Given the description of an element on the screen output the (x, y) to click on. 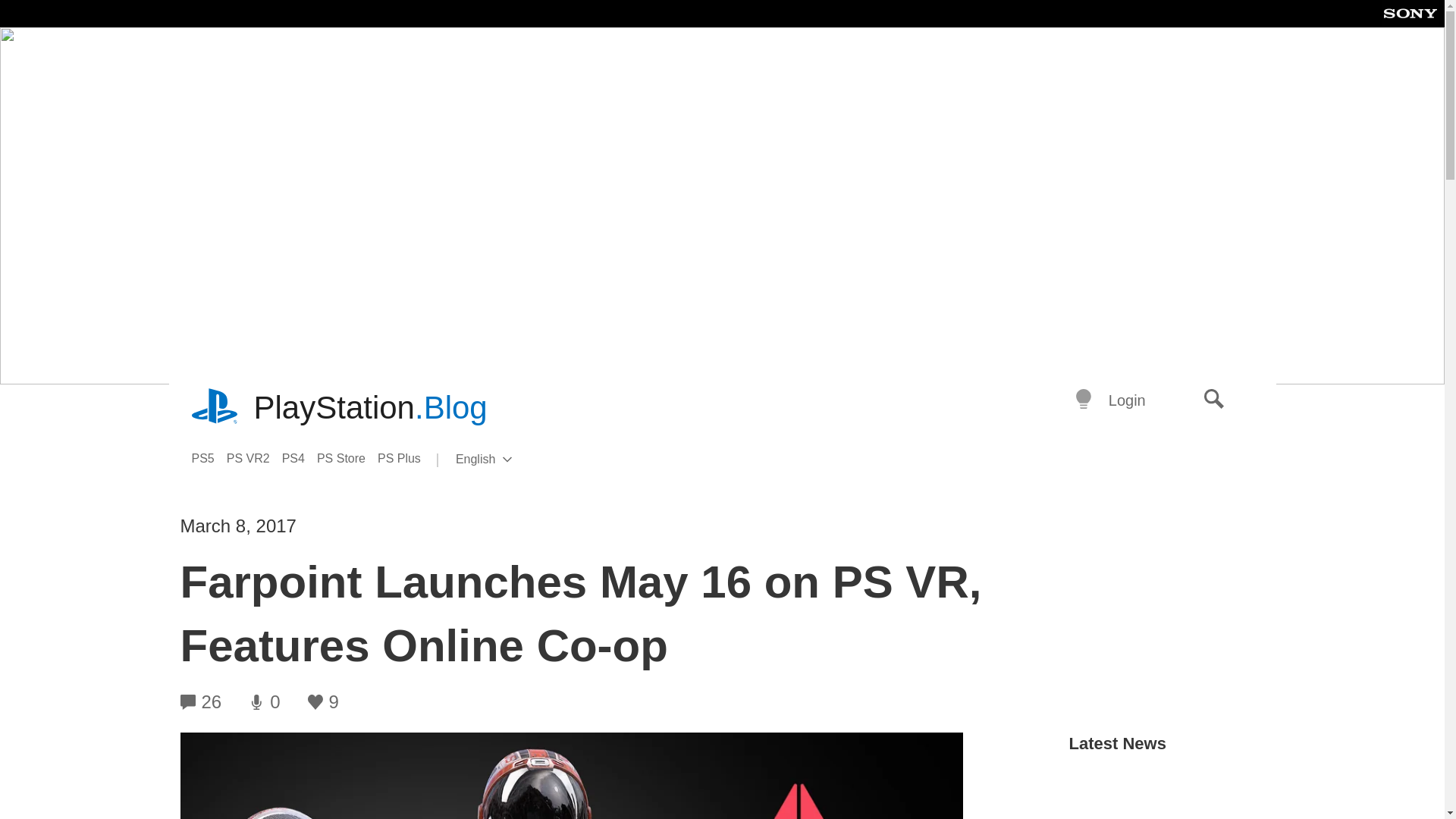
Search (1214, 400)
PS VR2 (254, 458)
PS Plus (404, 458)
playstation.com (508, 459)
PS5 (215, 408)
Skip to content (207, 458)
PS Store (1126, 400)
PS4 (347, 458)
